Given the description of an element on the screen output the (x, y) to click on. 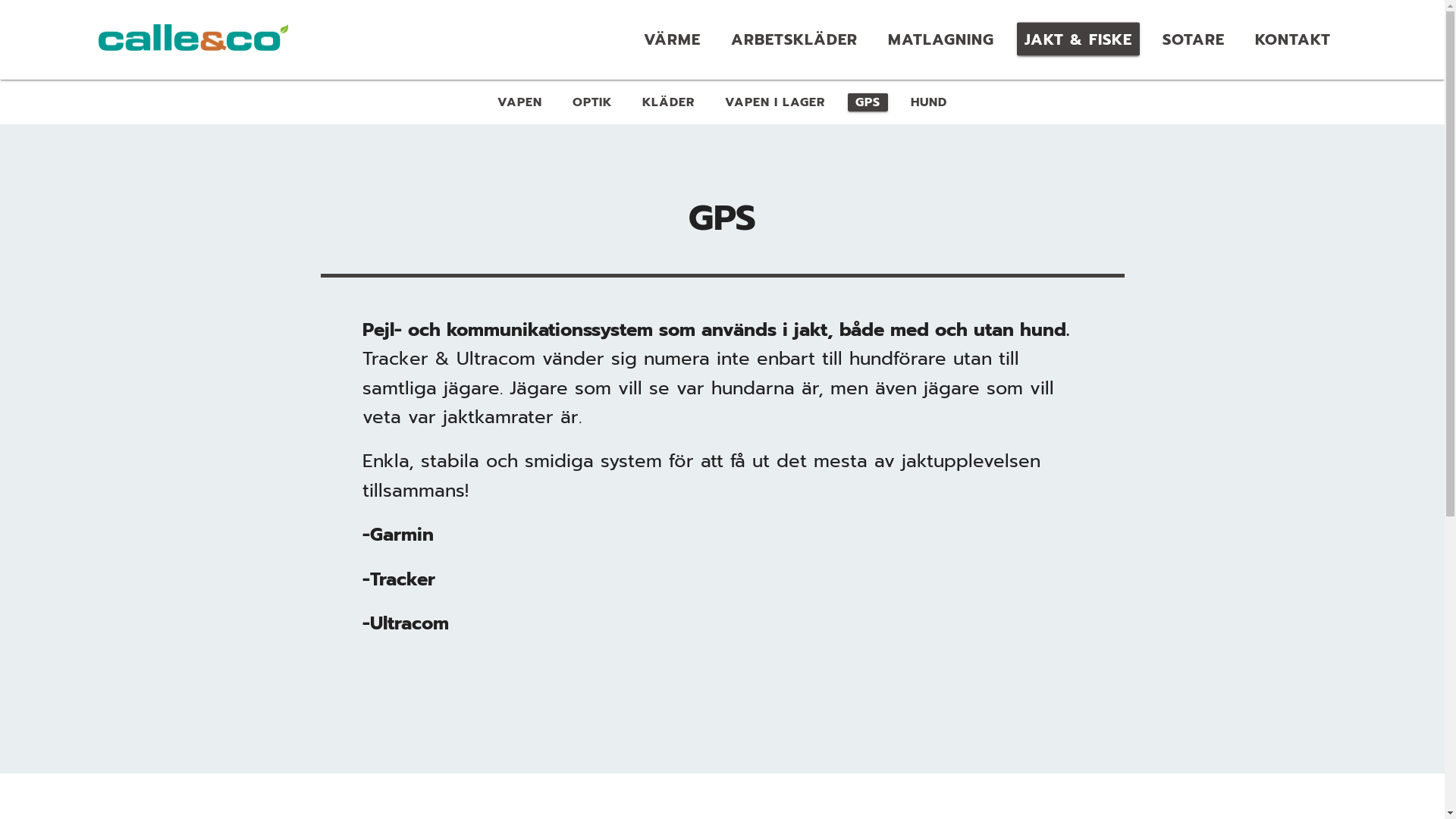
JAKT & FISKE Element type: text (1077, 38)
VAPEN I LAGER Element type: text (774, 102)
OPTIK Element type: text (591, 102)
KONTAKT Element type: text (1292, 38)
VAPEN Element type: text (519, 102)
MATLAGNING Element type: text (940, 38)
HUND Element type: text (928, 102)
GPS Element type: text (867, 102)
SOTARE Element type: text (1193, 38)
